Given the description of an element on the screen output the (x, y) to click on. 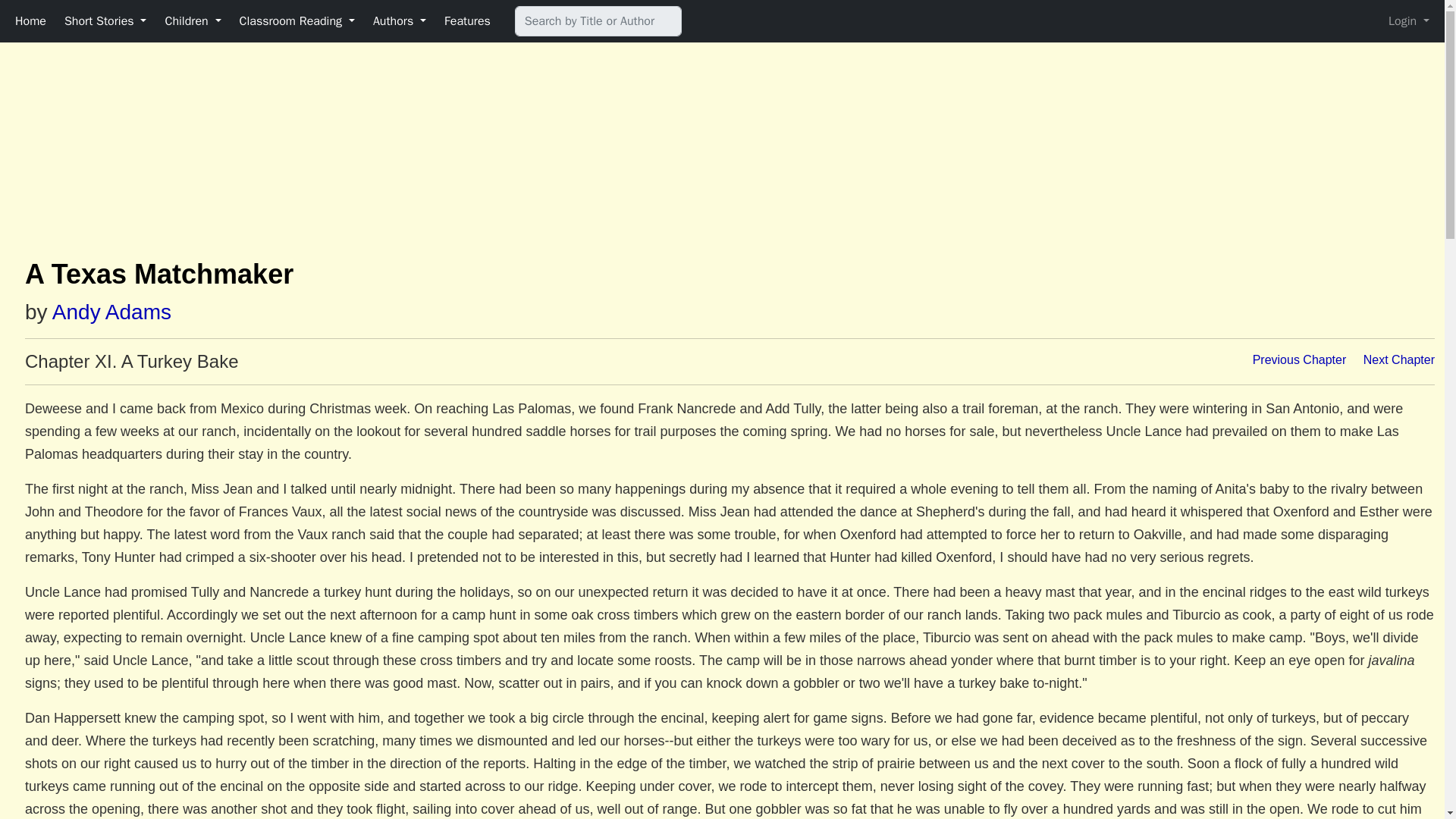
Home (30, 20)
Short Stories (105, 20)
Children (192, 20)
